Given the description of an element on the screen output the (x, y) to click on. 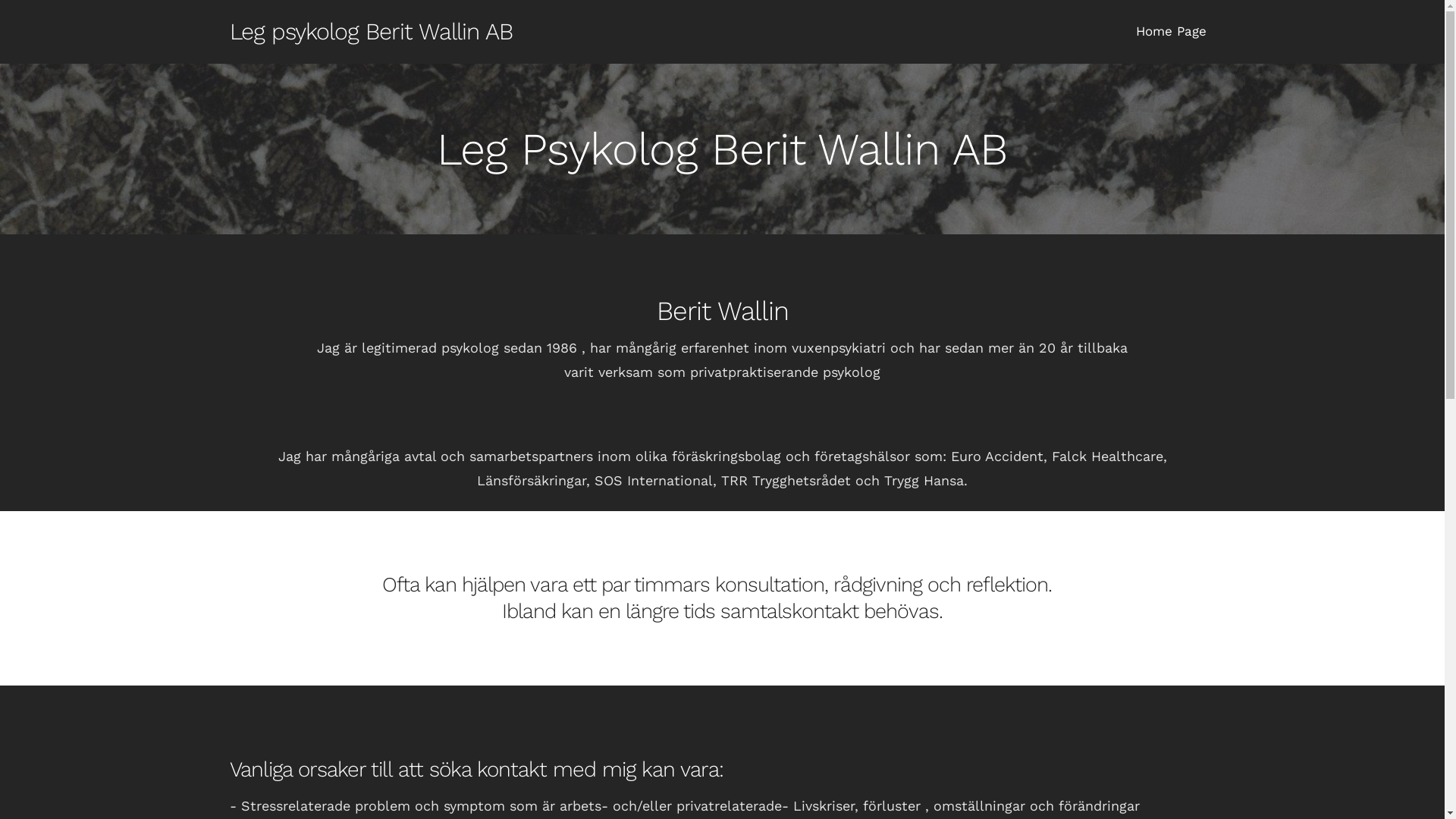
Home Page Element type: text (1170, 30)
Leg psykolog Berit Wallin AB Element type: text (370, 31)
